Given the description of an element on the screen output the (x, y) to click on. 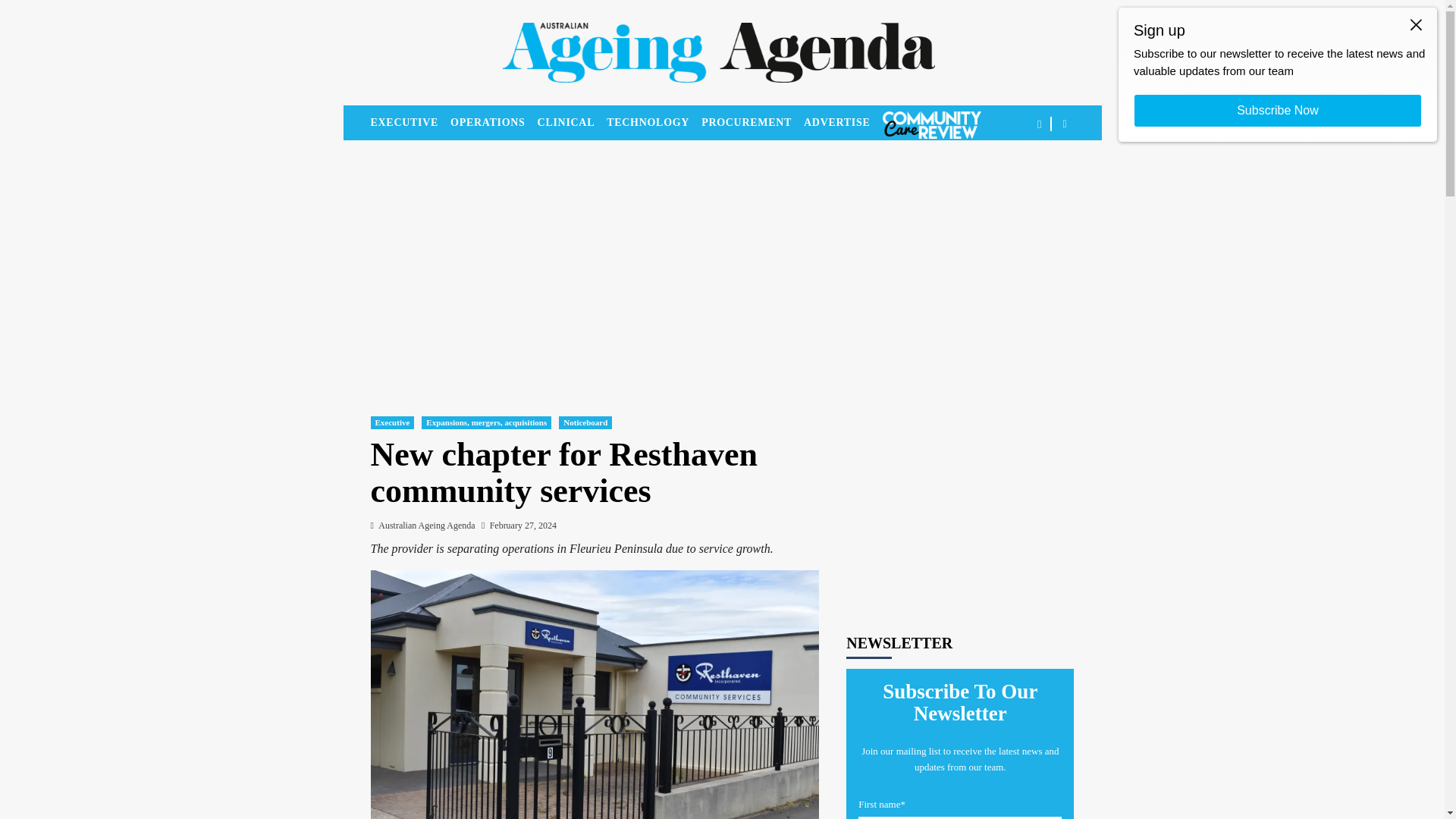
CLINICAL (572, 122)
TECHNOLOGY (654, 122)
ADVERTISE (842, 122)
Executive (391, 422)
Search (1028, 170)
Noticeboard (585, 422)
Australian Ageing Agenda (426, 525)
February 27, 2024 (522, 525)
PROCUREMENT (752, 122)
EXECUTIVE (409, 122)
Expansions, mergers, acquisitions (486, 422)
COMMUNITY CARE REVIEW (931, 124)
OPERATIONS (493, 122)
3rd party ad content (959, 495)
